Given the description of an element on the screen output the (x, y) to click on. 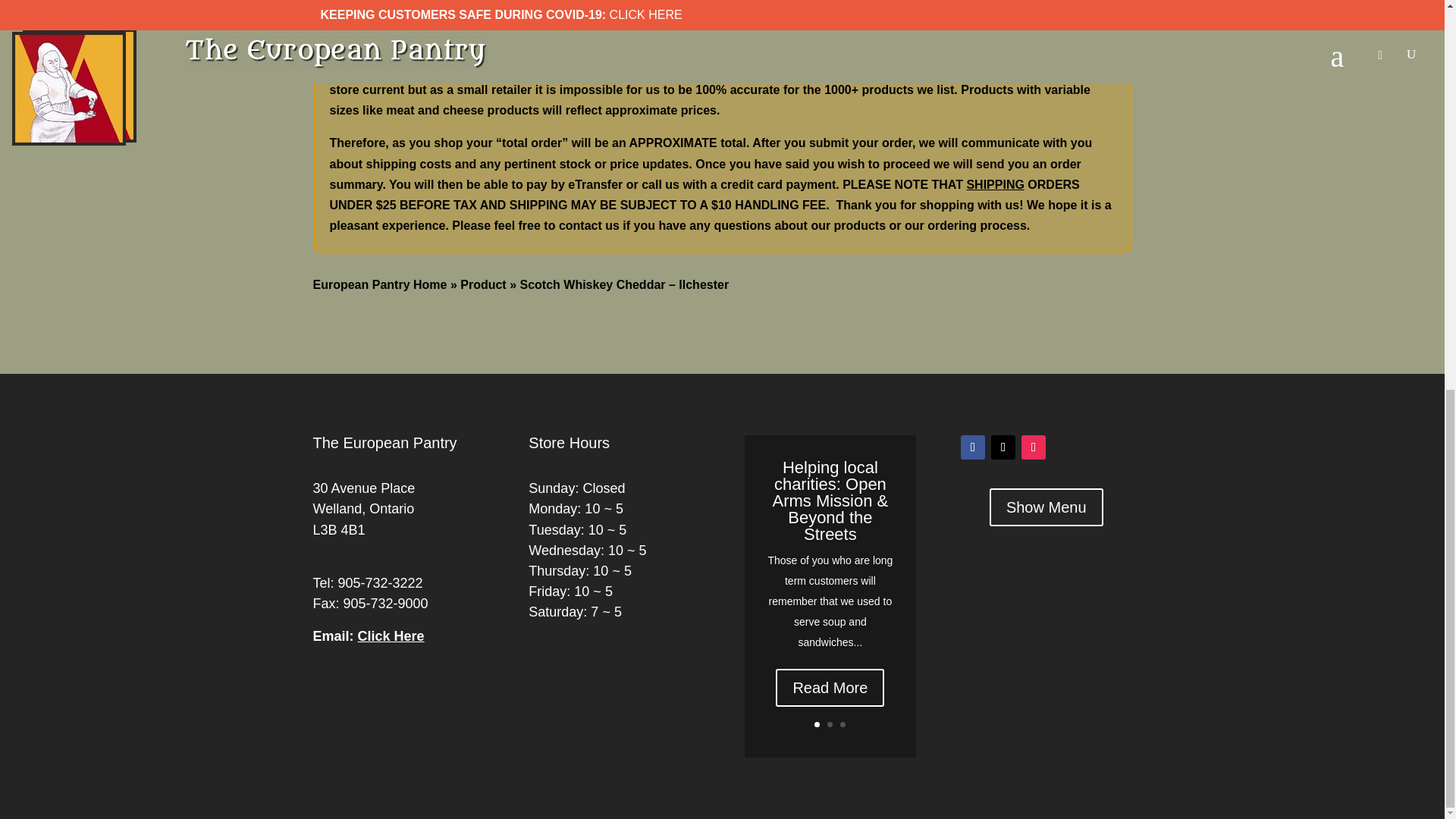
Follow on Instagram (1033, 446)
Follow on X (1002, 446)
Follow on Facebook (972, 446)
